Given the description of an element on the screen output the (x, y) to click on. 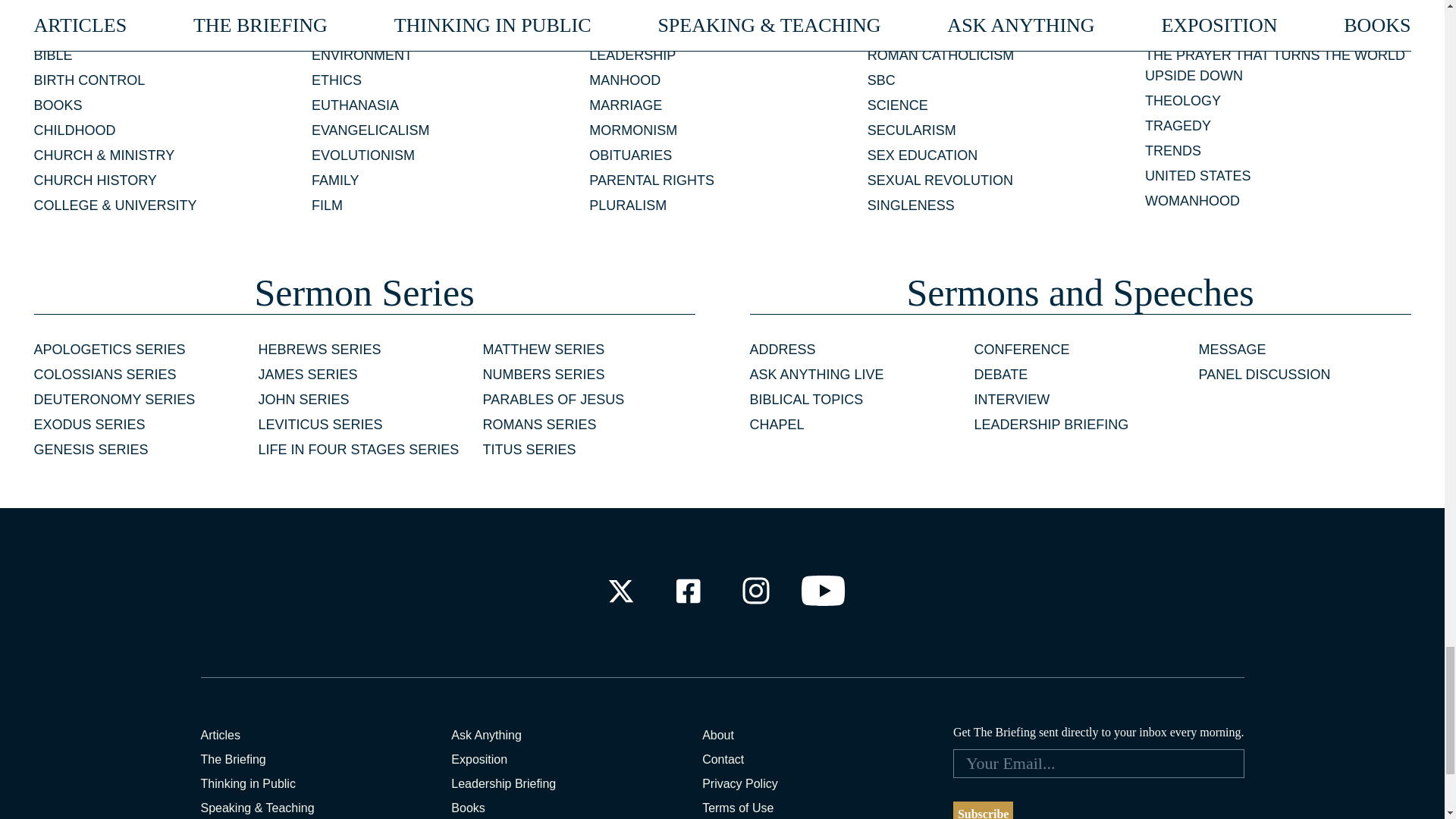
Check out our Instagram Profile (755, 590)
Check out our Youtube Channel (822, 590)
Subscribe (983, 810)
Check out our X Profile (620, 590)
Check out our Facebook Profile (687, 590)
